Given the description of an element on the screen output the (x, y) to click on. 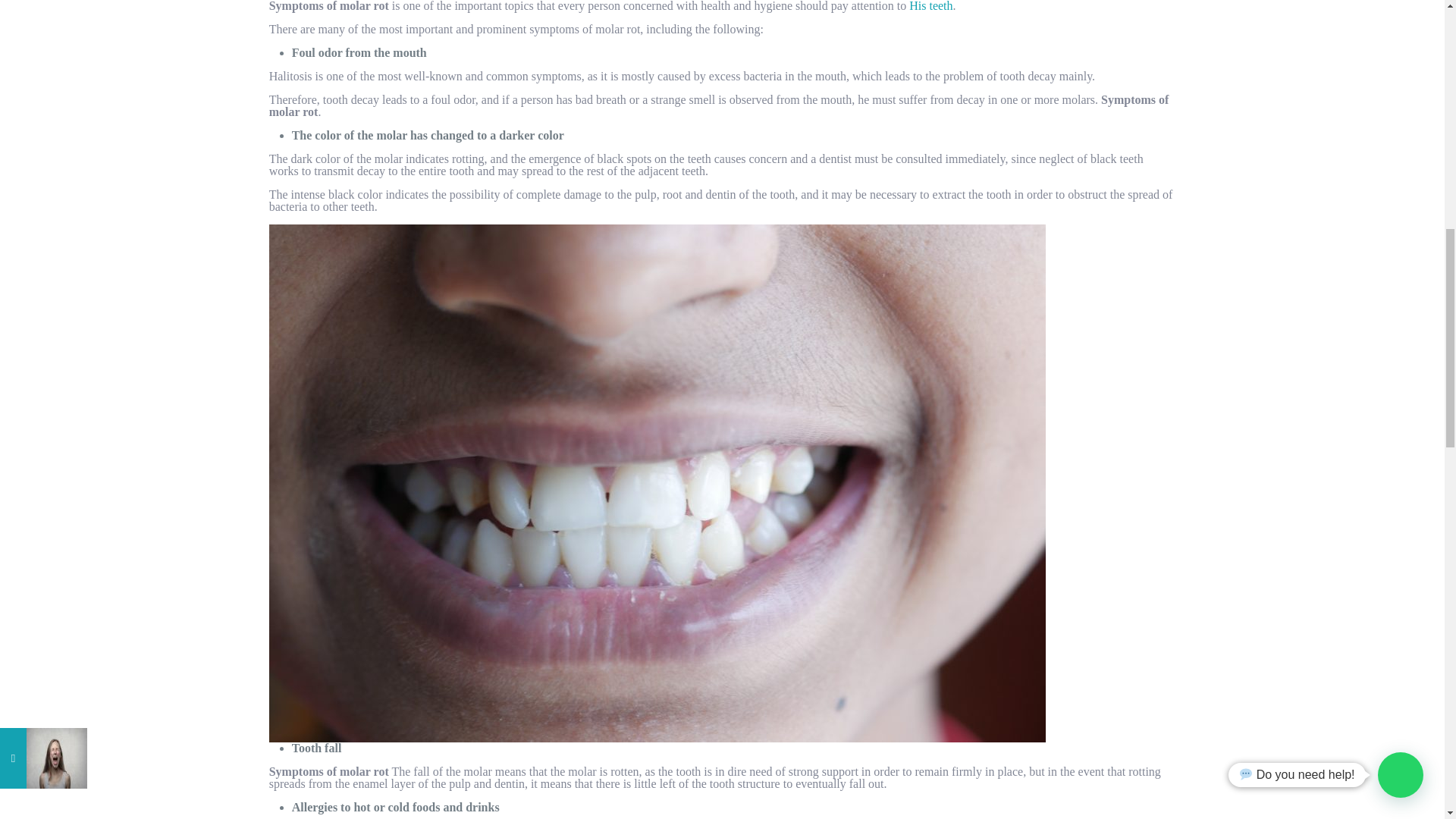
His teeth (930, 6)
